Given the description of an element on the screen output the (x, y) to click on. 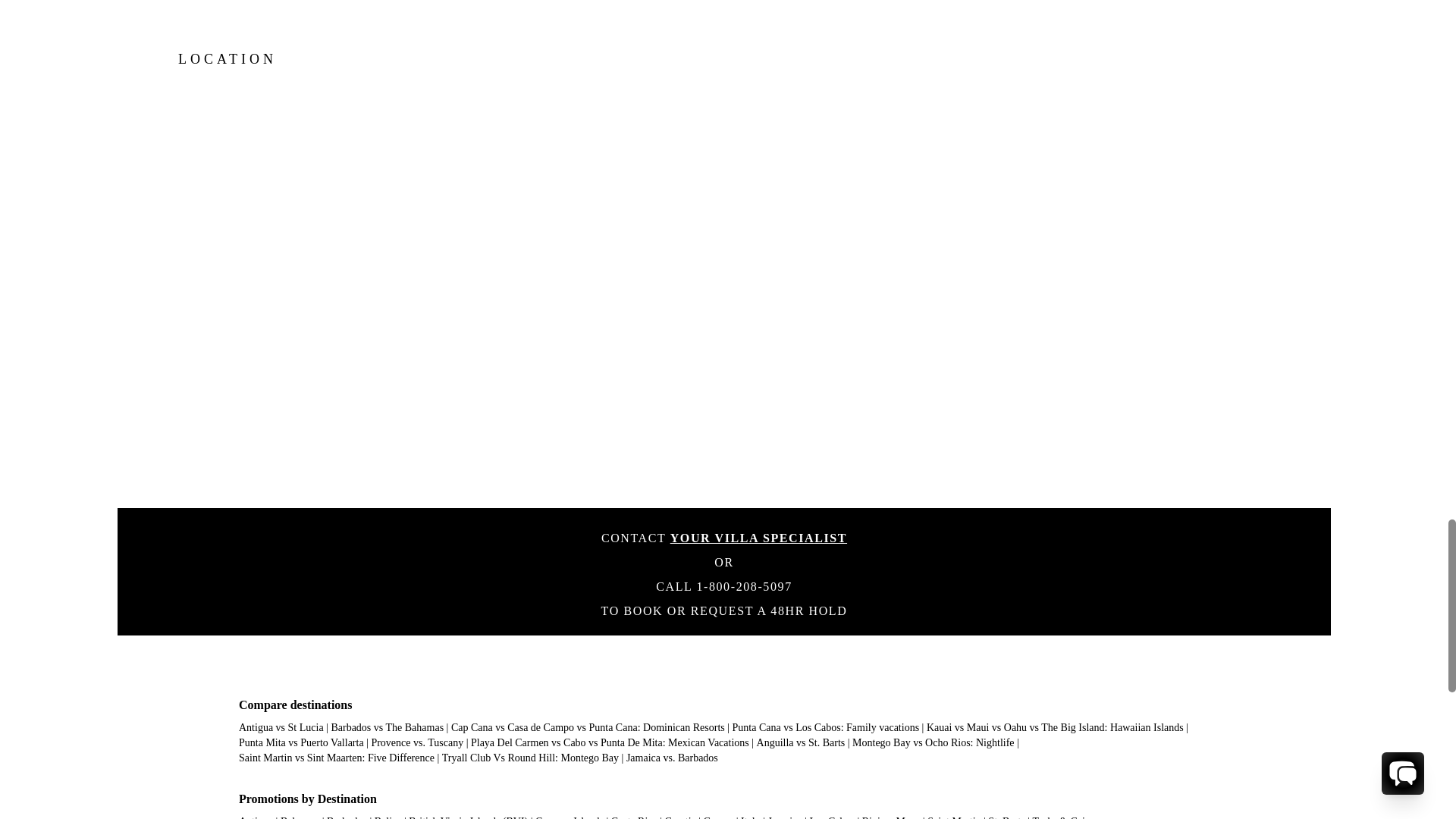
Jamaica vs. Barbados (671, 757)
Provence vs. Tuscany (417, 742)
Punta Cana vs Los Cabos: Family vacations (826, 727)
Montego Bay vs Ocho Rios: Nightlife (932, 742)
Punta Mita vs Puerto Vallarta (301, 742)
Cap Cana vs Casa de Campo vs Punta Cana: Dominican Resorts (588, 727)
Playa Del Carmen vs Cabo vs Punta De Mita: Mexican Vacations (609, 742)
Barbados (346, 817)
Barbados vs The Bahamas (387, 727)
Cayman Islands (569, 817)
Antigua vs St Lucia (280, 727)
Kauai vs Maui vs Oahu vs The Big Island: Hawaiian Islands (1054, 727)
Antigua (255, 817)
Anguilla vs St. Barts (801, 742)
Tryall Club Vs Round Hill: Montego Bay (530, 757)
